Given the description of an element on the screen output the (x, y) to click on. 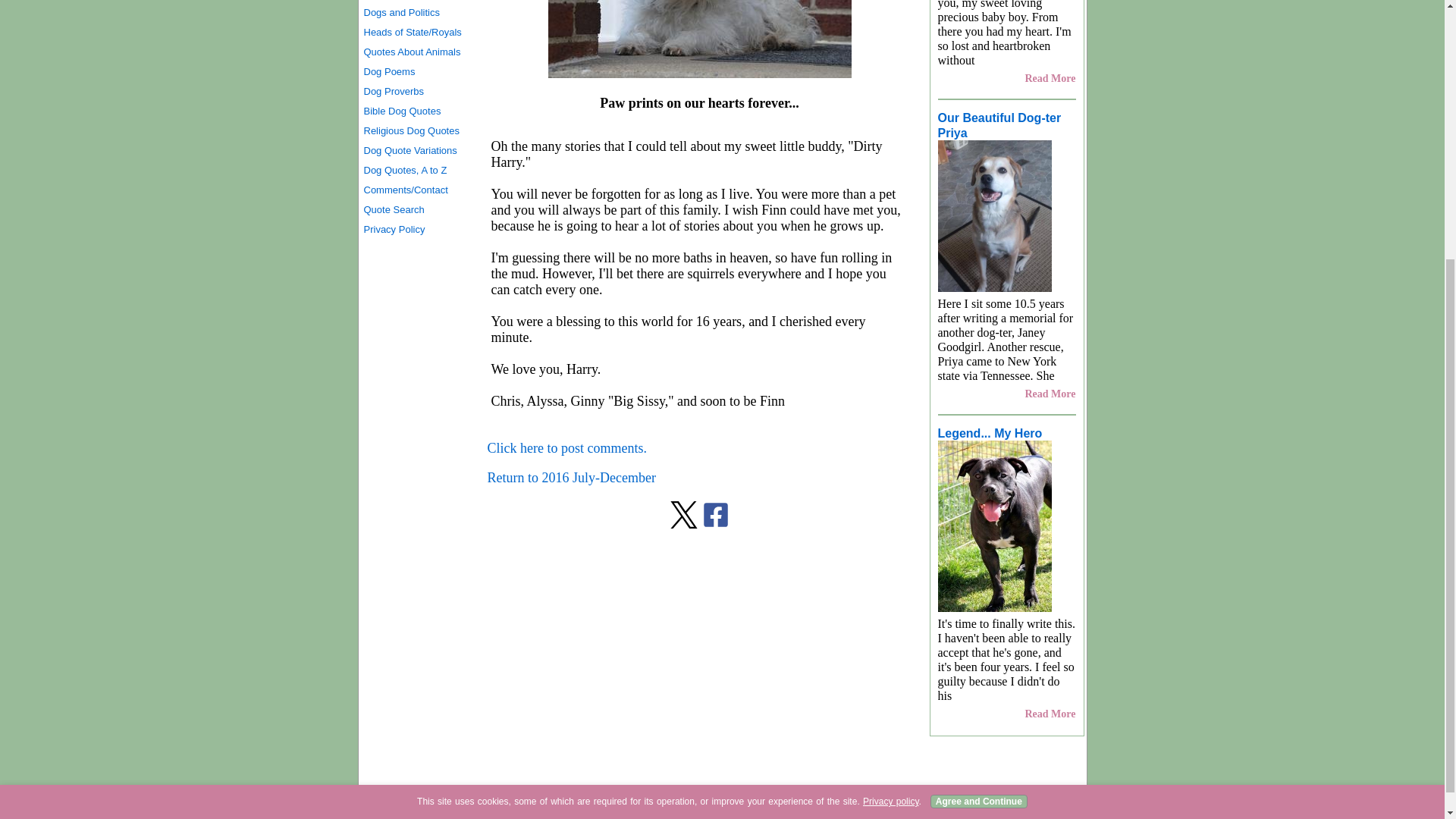
Privacy Policy (419, 229)
Dog Quote Variations (419, 150)
Religious Dog Quotes (419, 130)
Our Beautiful Dog-ter Priya (999, 124)
Paw prints on our hearts forever... (698, 38)
Click here to post comments. (566, 447)
Dog Poems (419, 71)
Quote Search (419, 209)
Quotes About Animals (419, 52)
Dog Quotes, A to Z (419, 170)
